Given the description of an element on the screen output the (x, y) to click on. 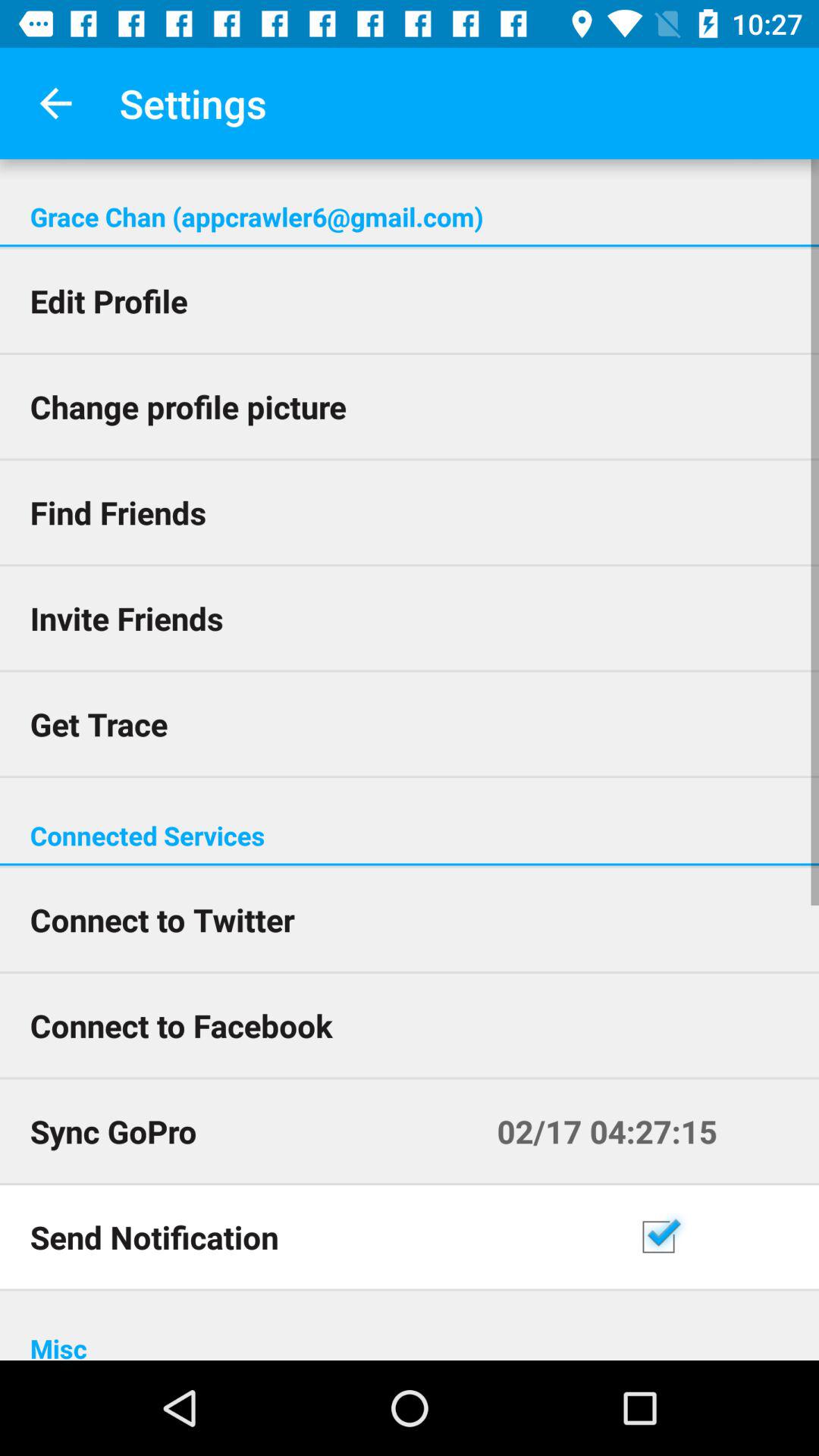
press item above the misc (722, 1236)
